Given the description of an element on the screen output the (x, y) to click on. 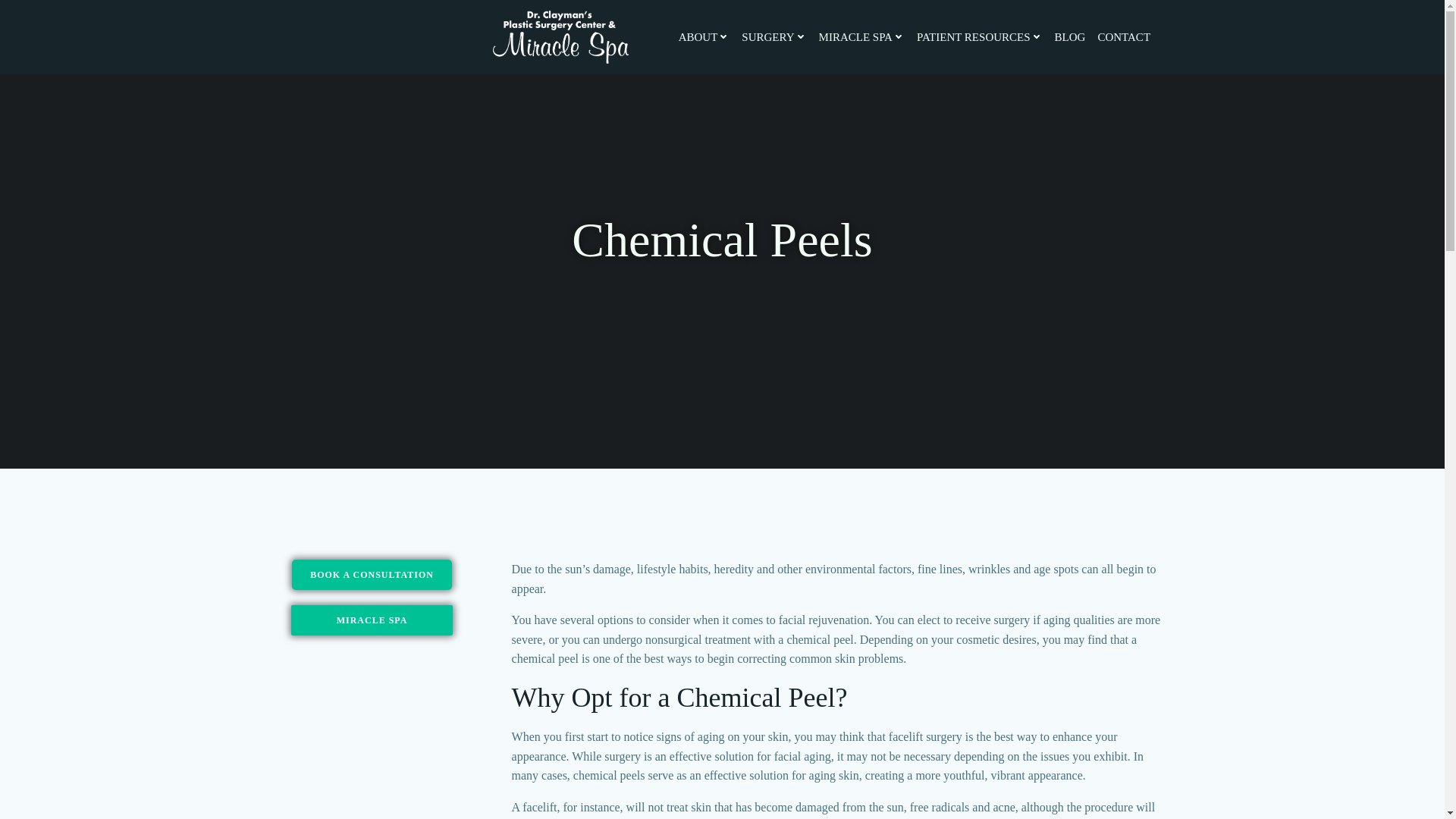
ABOUT (704, 36)
SURGERY (773, 36)
PATIENT RESOURCES (979, 36)
MIRACLE SPA (861, 36)
